Given the description of an element on the screen output the (x, y) to click on. 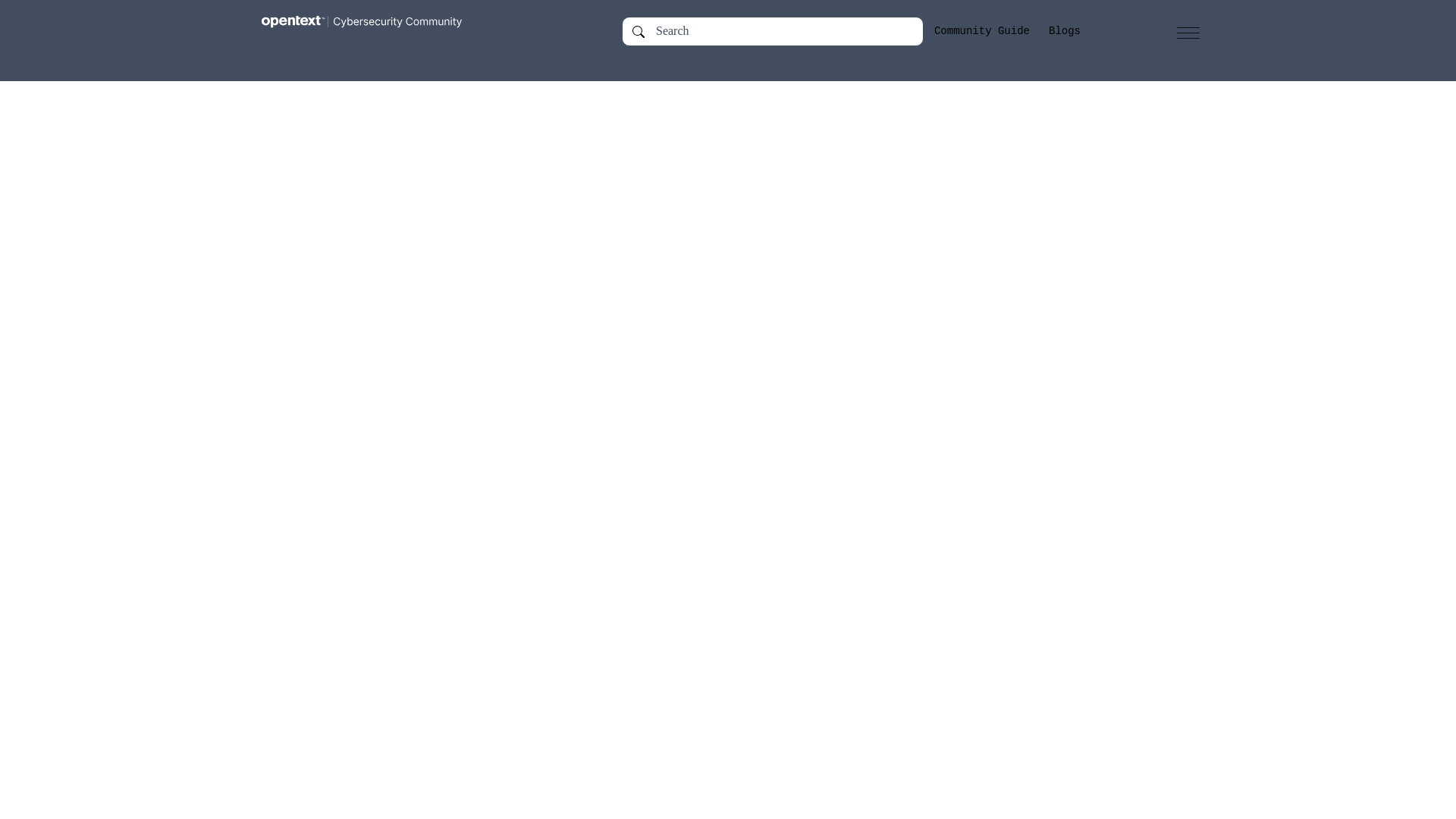
Community Guide (981, 31)
Cybersecurity Home (385, 30)
Blogs (1064, 31)
